Given the description of an element on the screen output the (x, y) to click on. 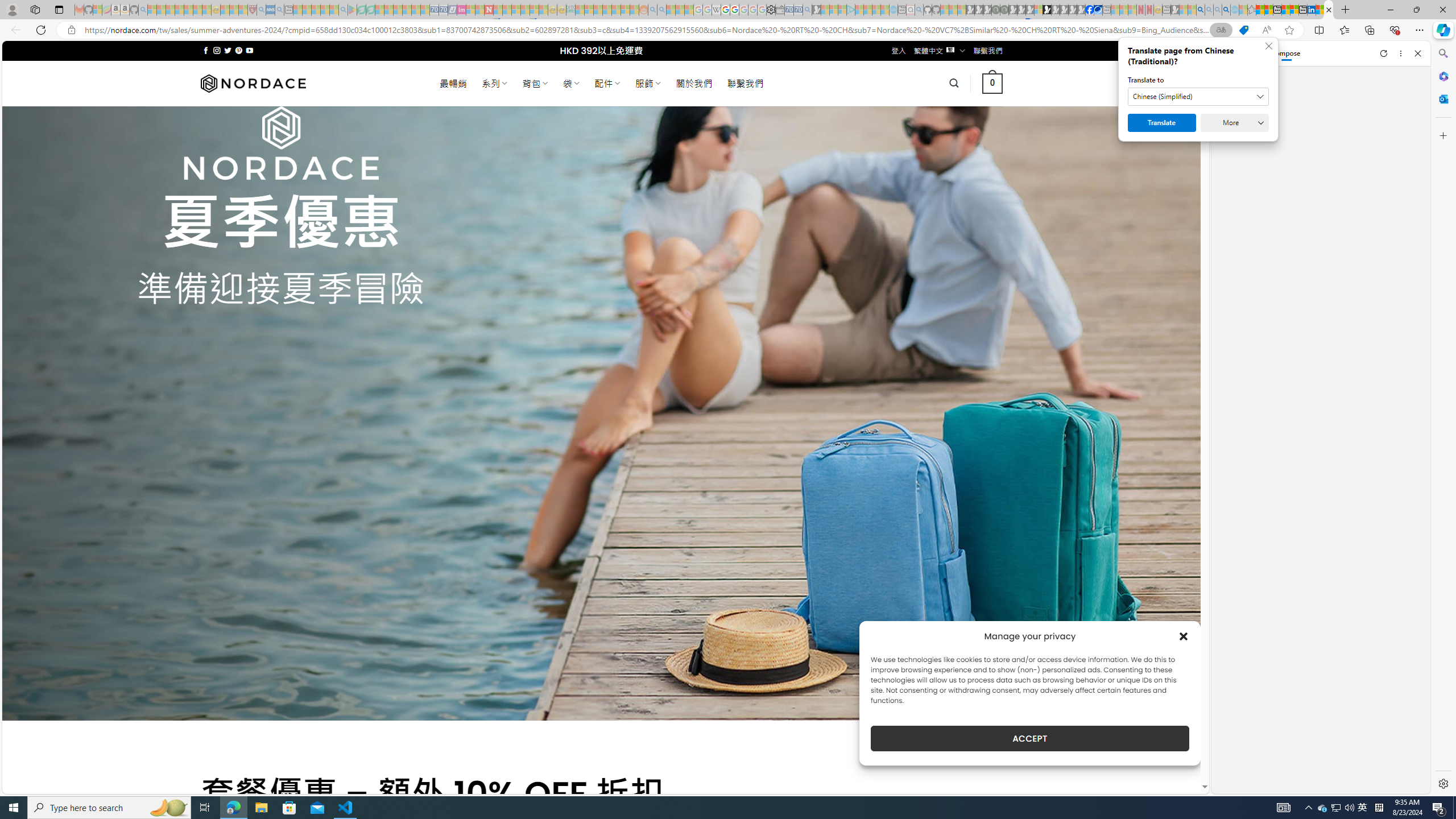
Chat (1230, 52)
Pets - MSN - Sleeping (324, 9)
